Given the description of an element on the screen output the (x, y) to click on. 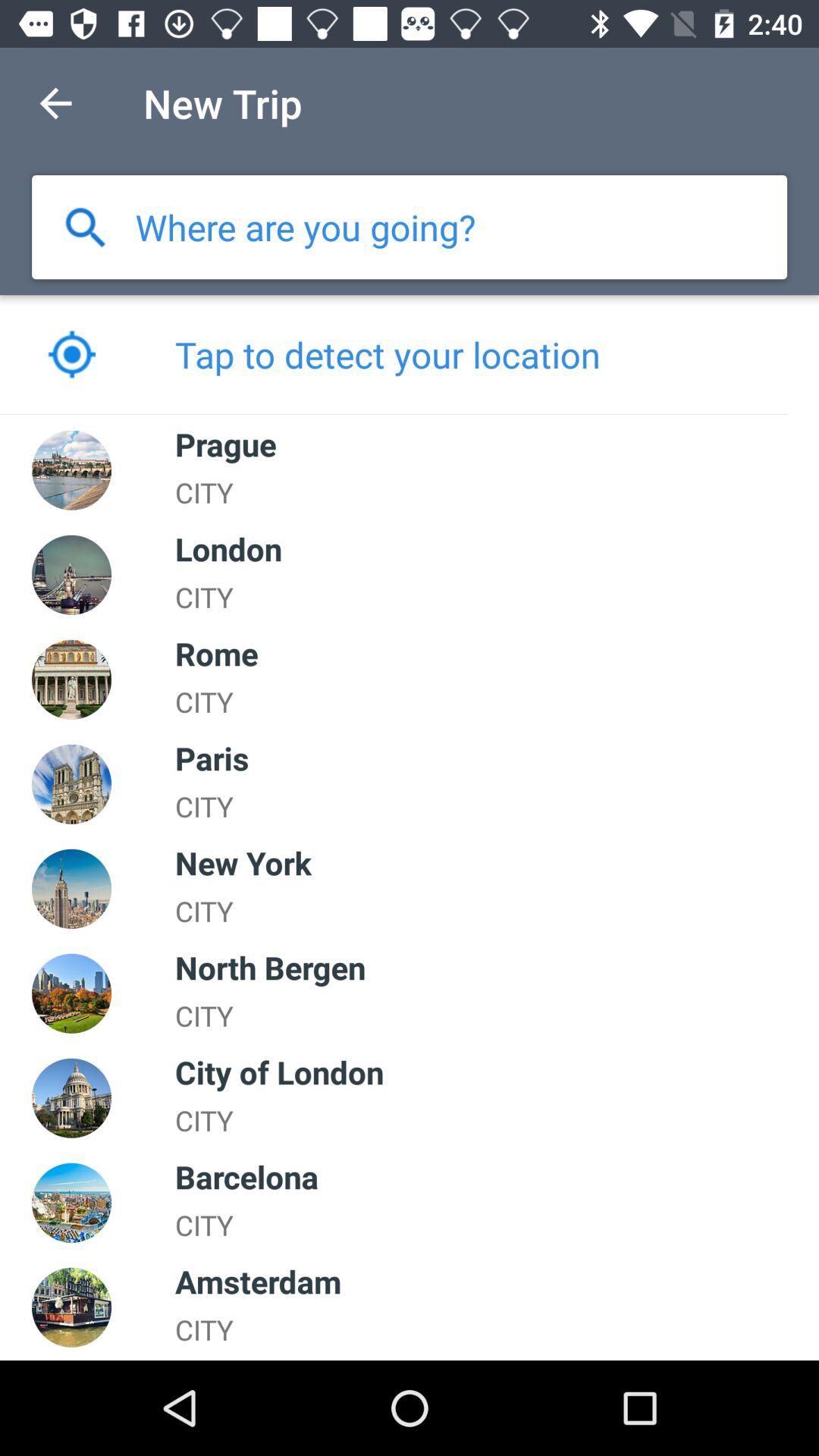
search location (85, 227)
